Given the description of an element on the screen output the (x, y) to click on. 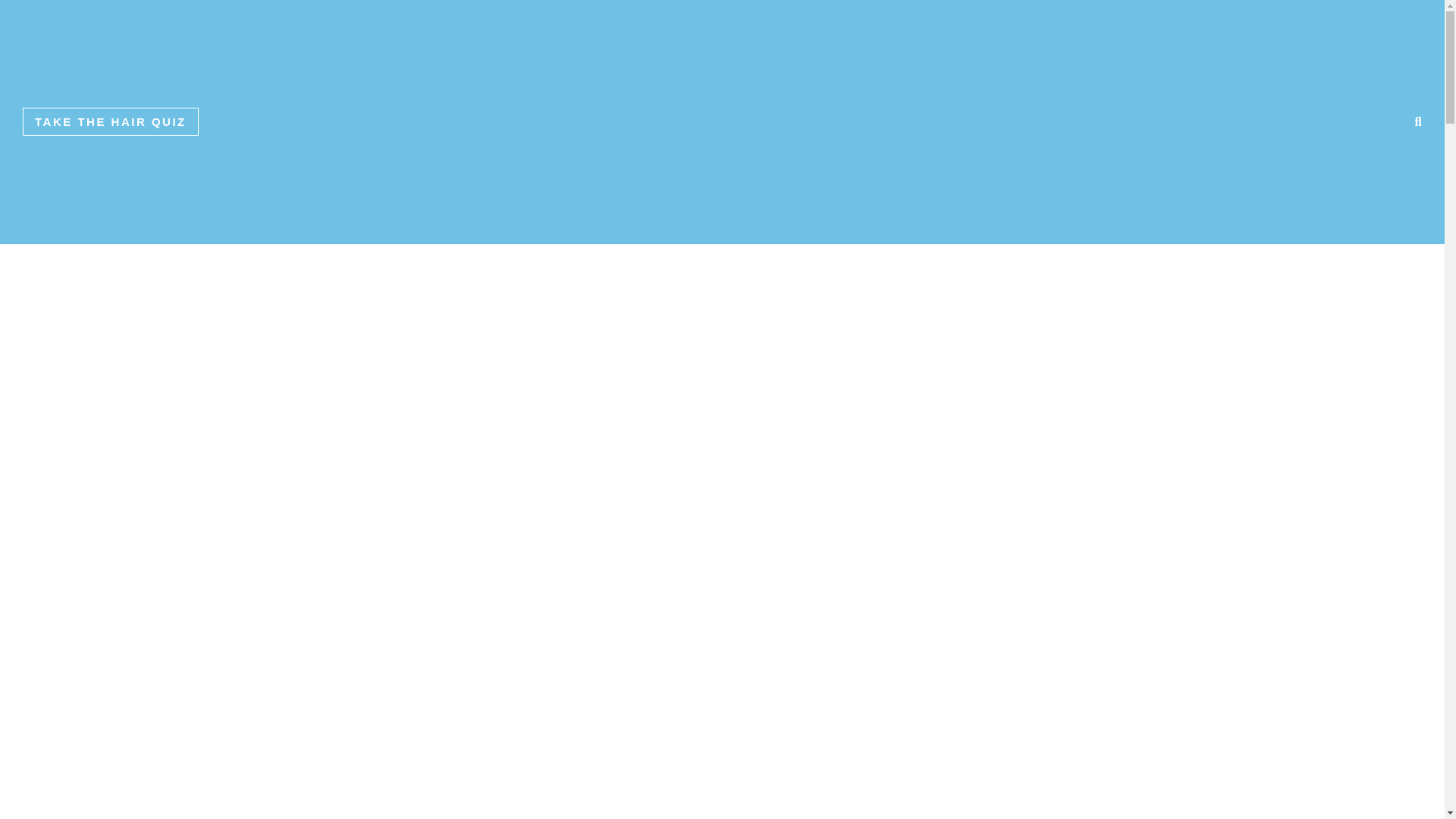
TAKE THE HAIR QUIZ (110, 121)
